Given the description of an element on the screen output the (x, y) to click on. 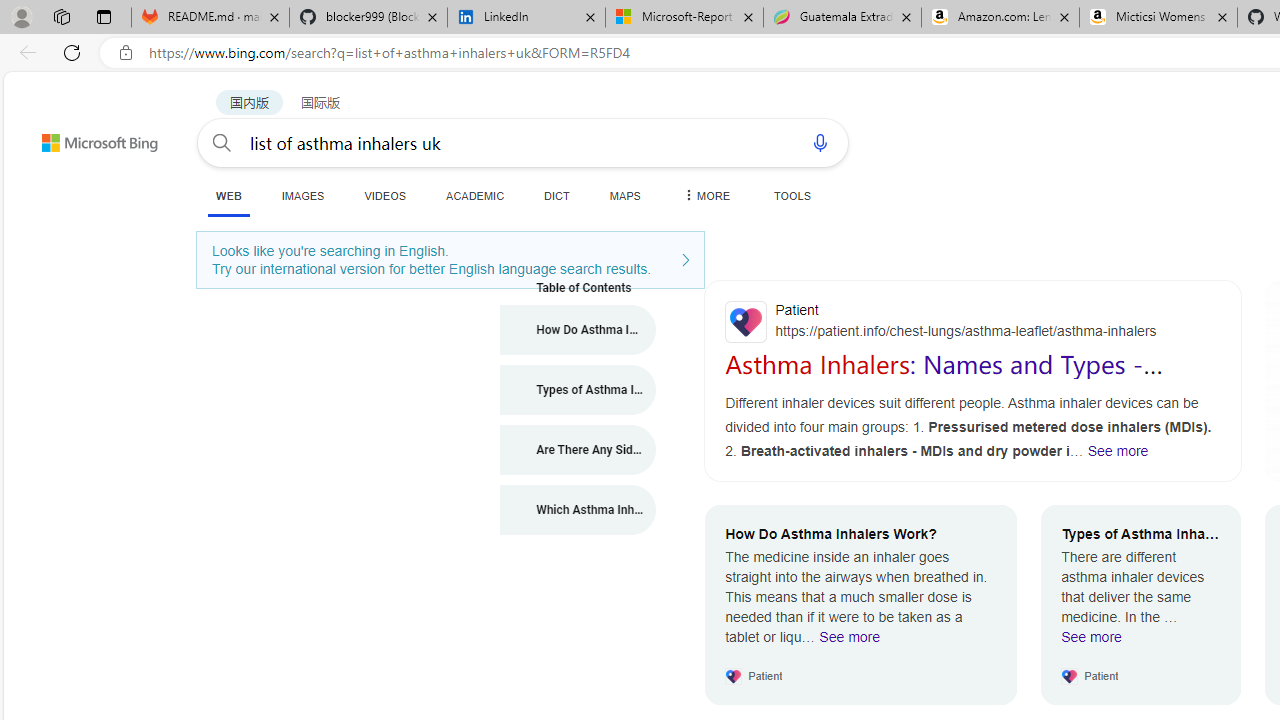
TOOLS (792, 195)
How Do Asthma Inhalers Work? (578, 329)
TOOLS (792, 195)
Patient (973, 321)
DICT (557, 195)
MAPS (624, 195)
